Given the description of an element on the screen output the (x, y) to click on. 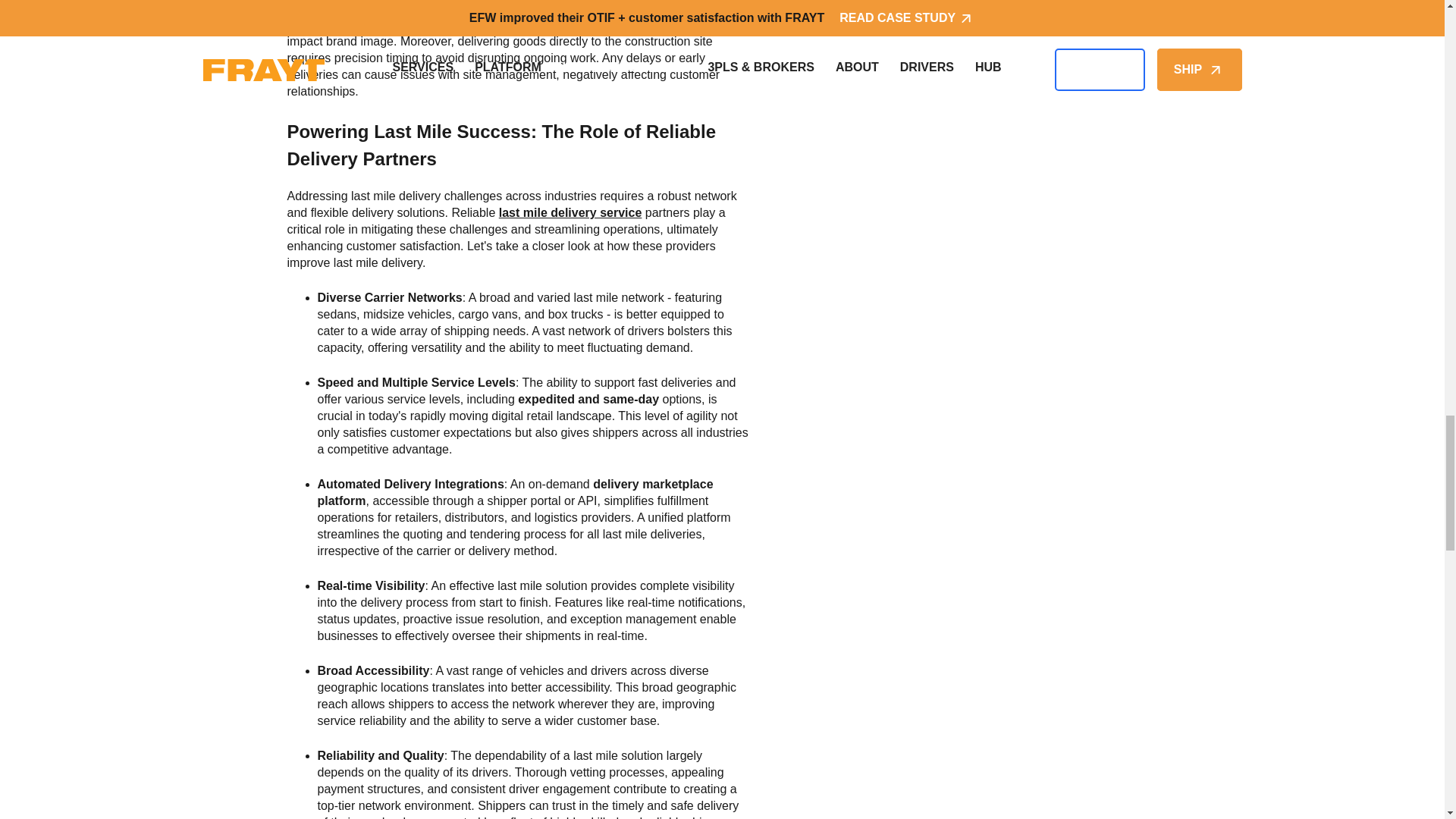
expedited and same-day (588, 399)
delivery marketplace platform (515, 491)
last mile delivery service (570, 212)
